Given the description of an element on the screen output the (x, y) to click on. 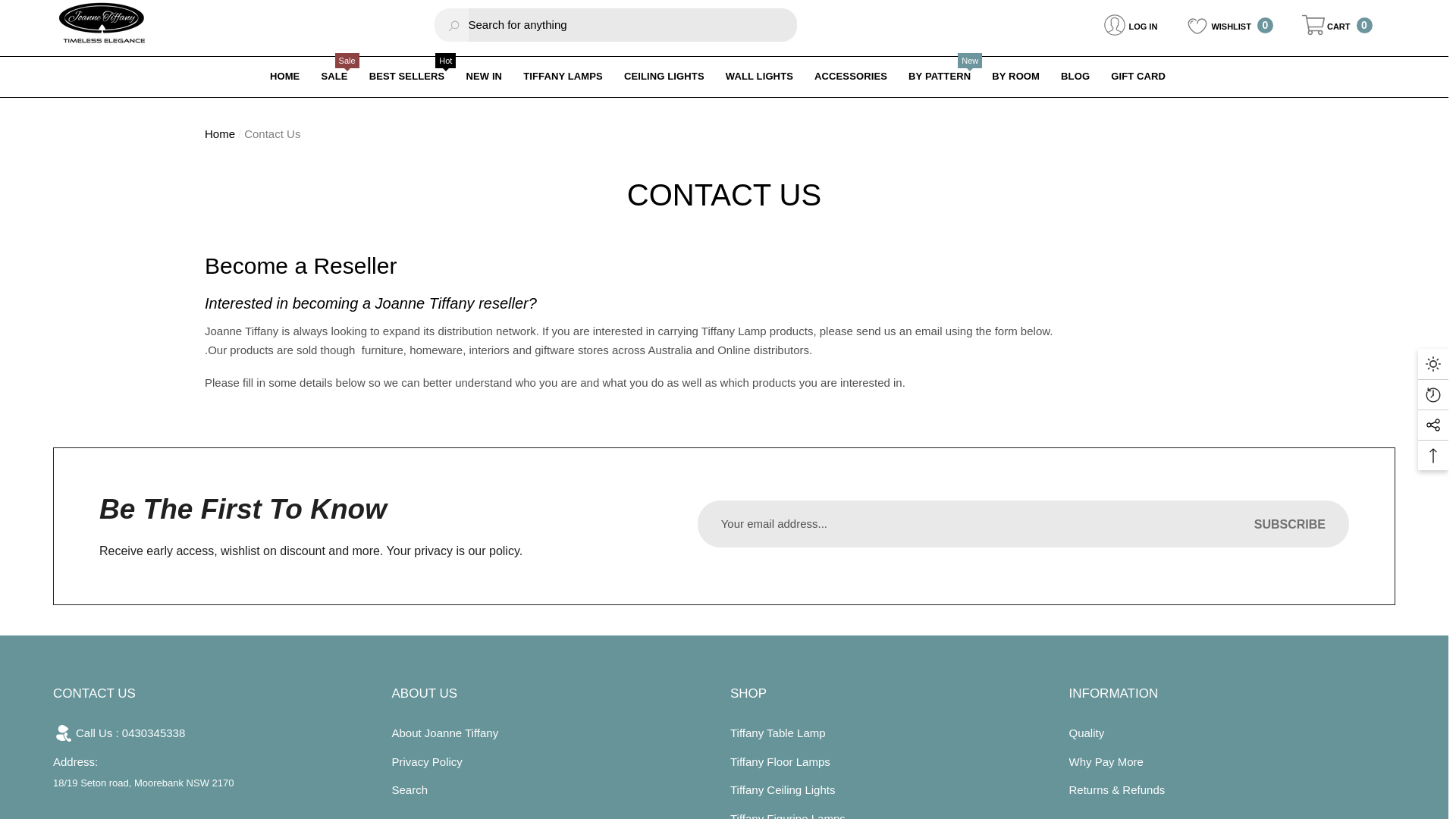
TIFFANY LAMPS (563, 76)
NEW IN (484, 76)
HOME (334, 76)
